Given the description of an element on the screen output the (x, y) to click on. 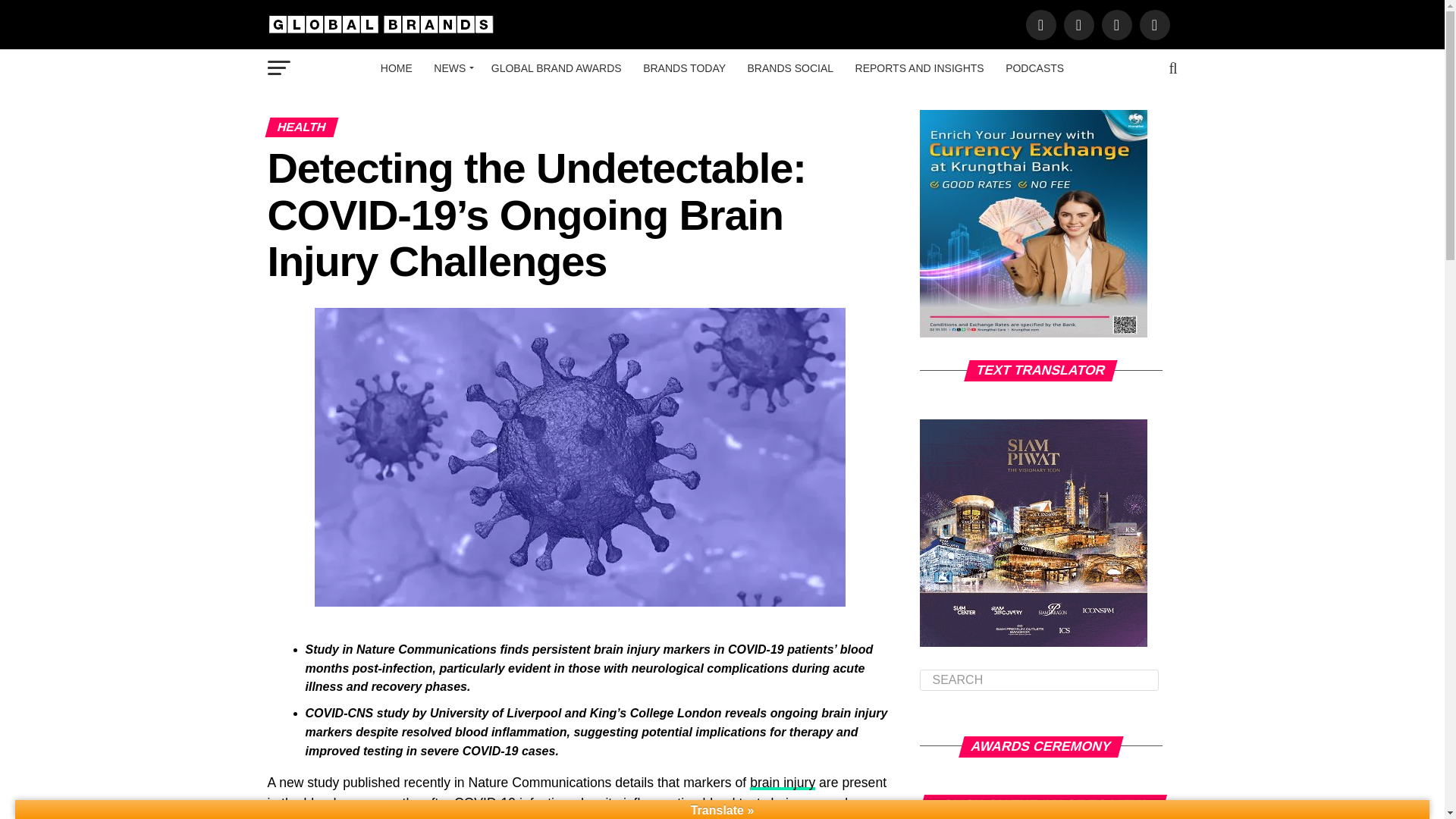
HOME (396, 67)
Search (1038, 680)
NEWS (452, 67)
